Given the description of an element on the screen output the (x, y) to click on. 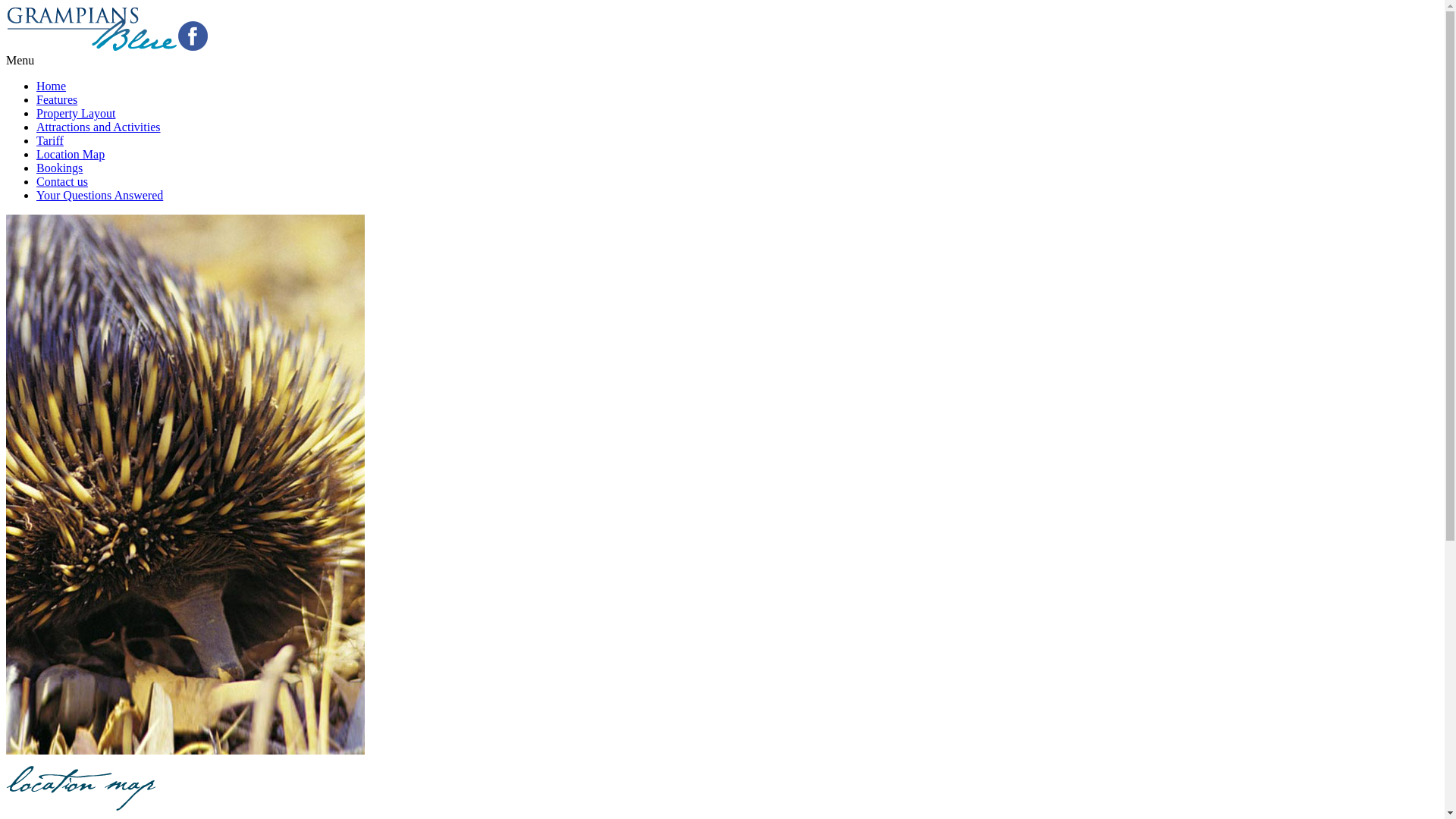
Contact us Element type: text (61, 181)
Property Layout Element type: text (75, 112)
Your Questions Answered Element type: text (99, 194)
Bookings Element type: text (59, 167)
Location Map Element type: text (70, 153)
Tariff Element type: text (49, 140)
Features Element type: text (56, 99)
Home Element type: text (50, 85)
Attractions and Activities Element type: text (98, 126)
